Given the description of an element on the screen output the (x, y) to click on. 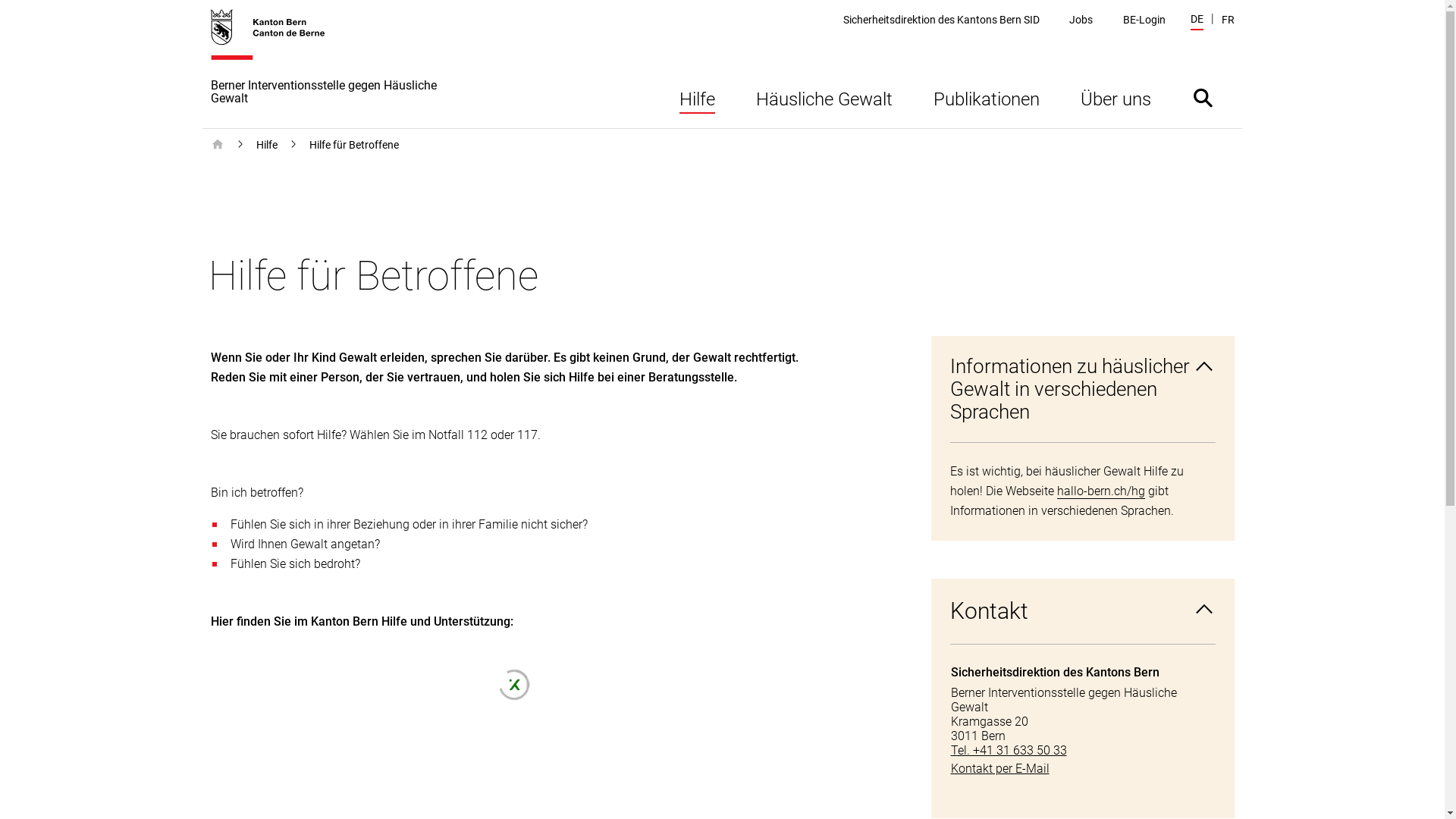
FR Element type: text (1226, 19)
Startseite Element type: text (217, 144)
DE Element type: text (1196, 21)
Kontakt per E-Mail Element type: text (1082, 768)
Publikationen Element type: text (986, 96)
Tel. +41 31 633 50 33 Element type: text (1082, 750)
Hilfe Element type: text (266, 144)
BE-Login Element type: text (1144, 19)
Suche ein- oder ausblenden Element type: text (1201, 96)
Jobs Element type: text (1080, 19)
Kontakt Element type: text (1082, 610)
Hilfe Element type: text (696, 96)
hallo-bern.ch/hg Element type: text (1101, 490)
Sicherheitsdirektion des Kantons Bern SID Element type: text (941, 19)
